Given the description of an element on the screen output the (x, y) to click on. 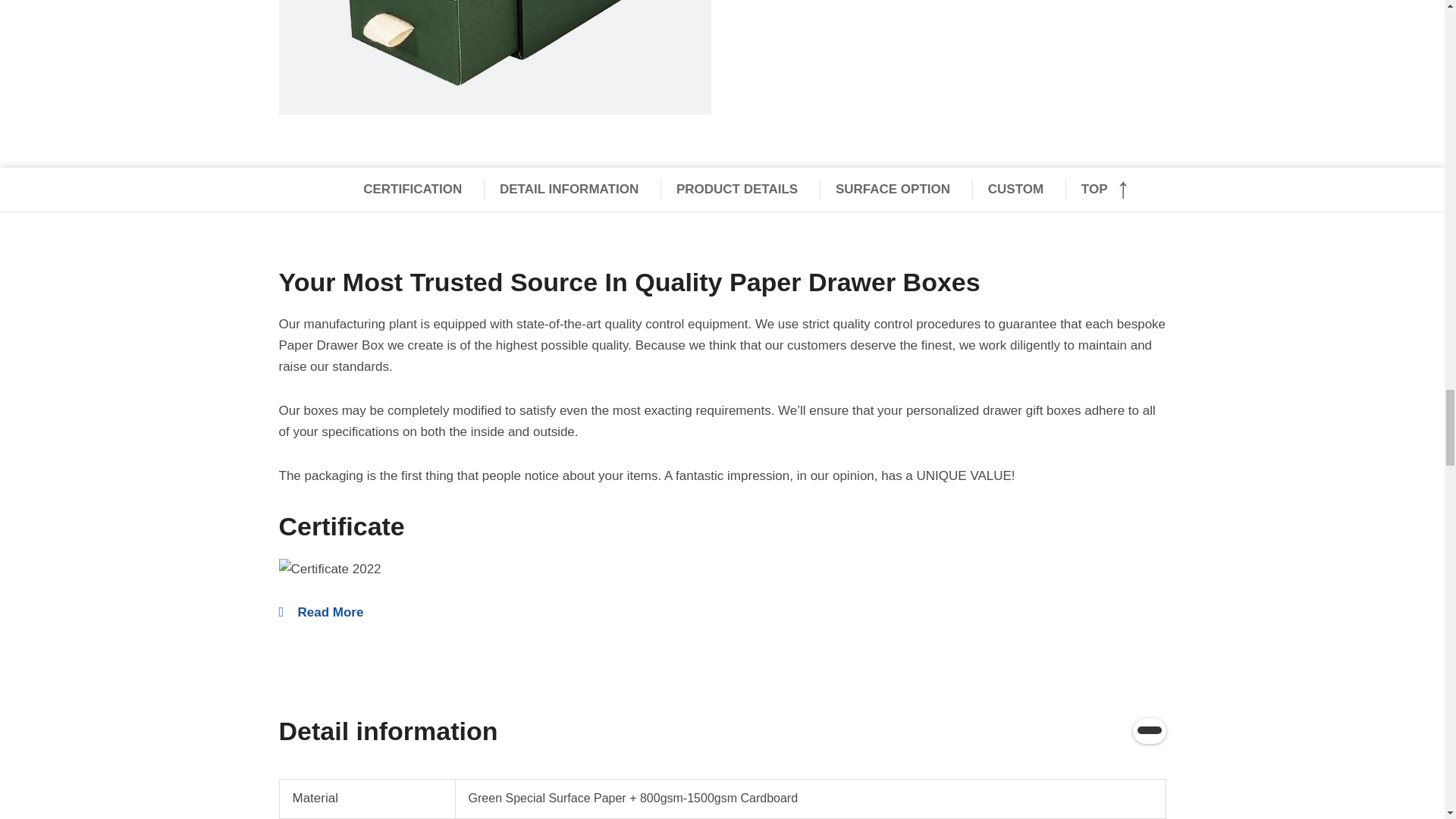
TOP (1100, 189)
